Given the description of an element on the screen output the (x, y) to click on. 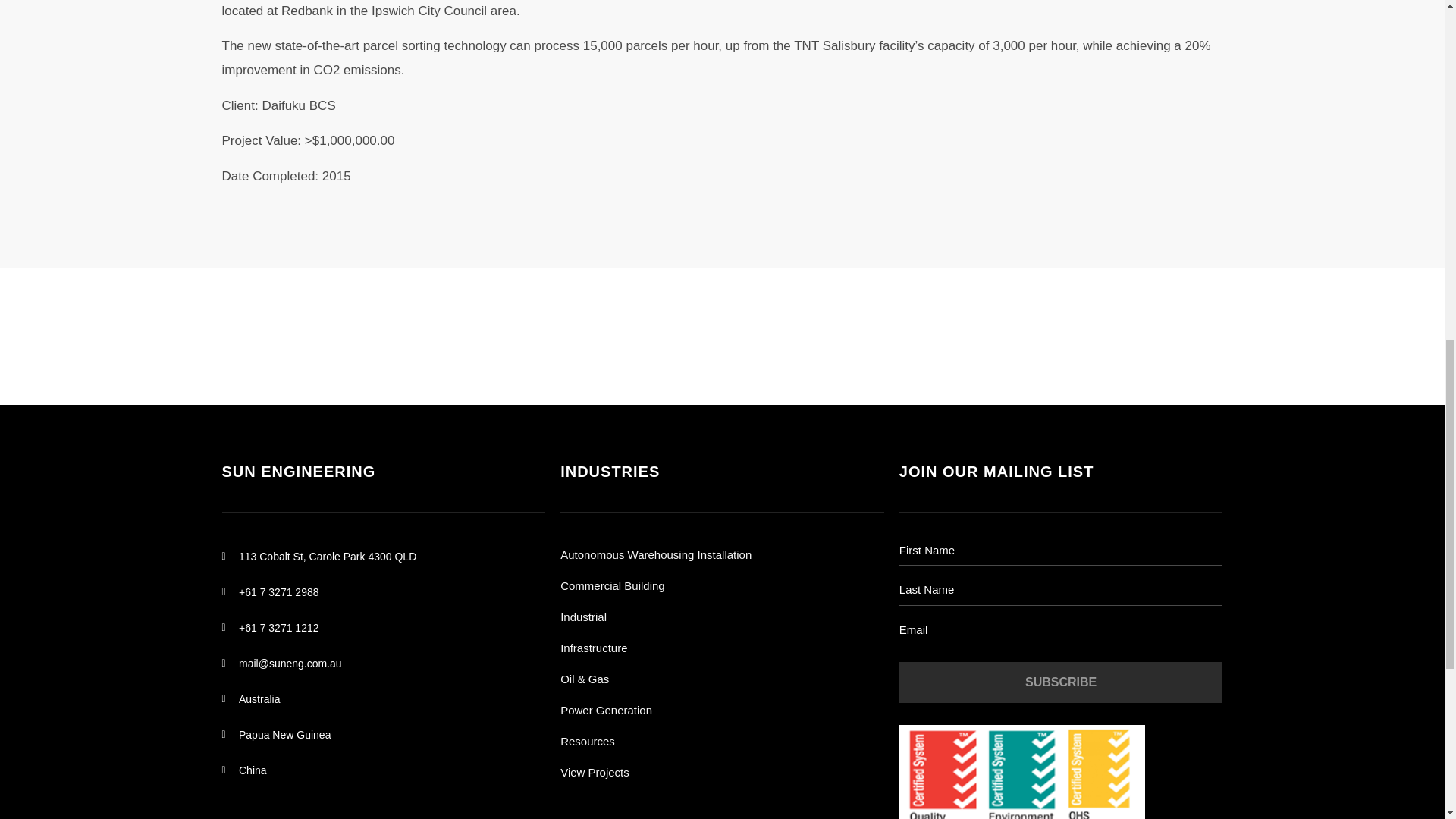
Subscribe (1061, 681)
113 Cobalt St, Carole Park 4300 QLD (382, 556)
